Given the description of an element on the screen output the (x, y) to click on. 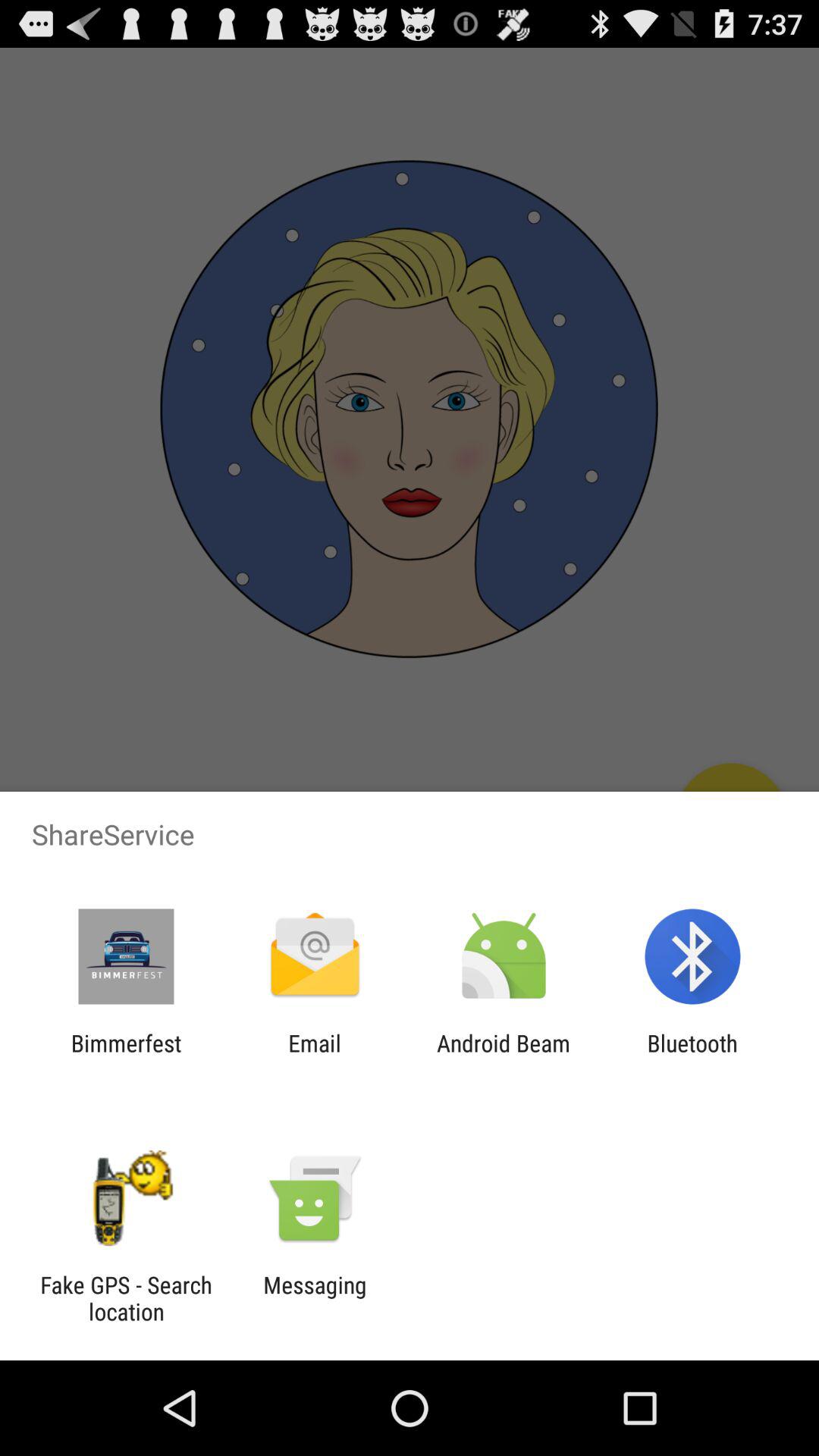
click the app to the right of the bimmerfest app (314, 1056)
